Given the description of an element on the screen output the (x, y) to click on. 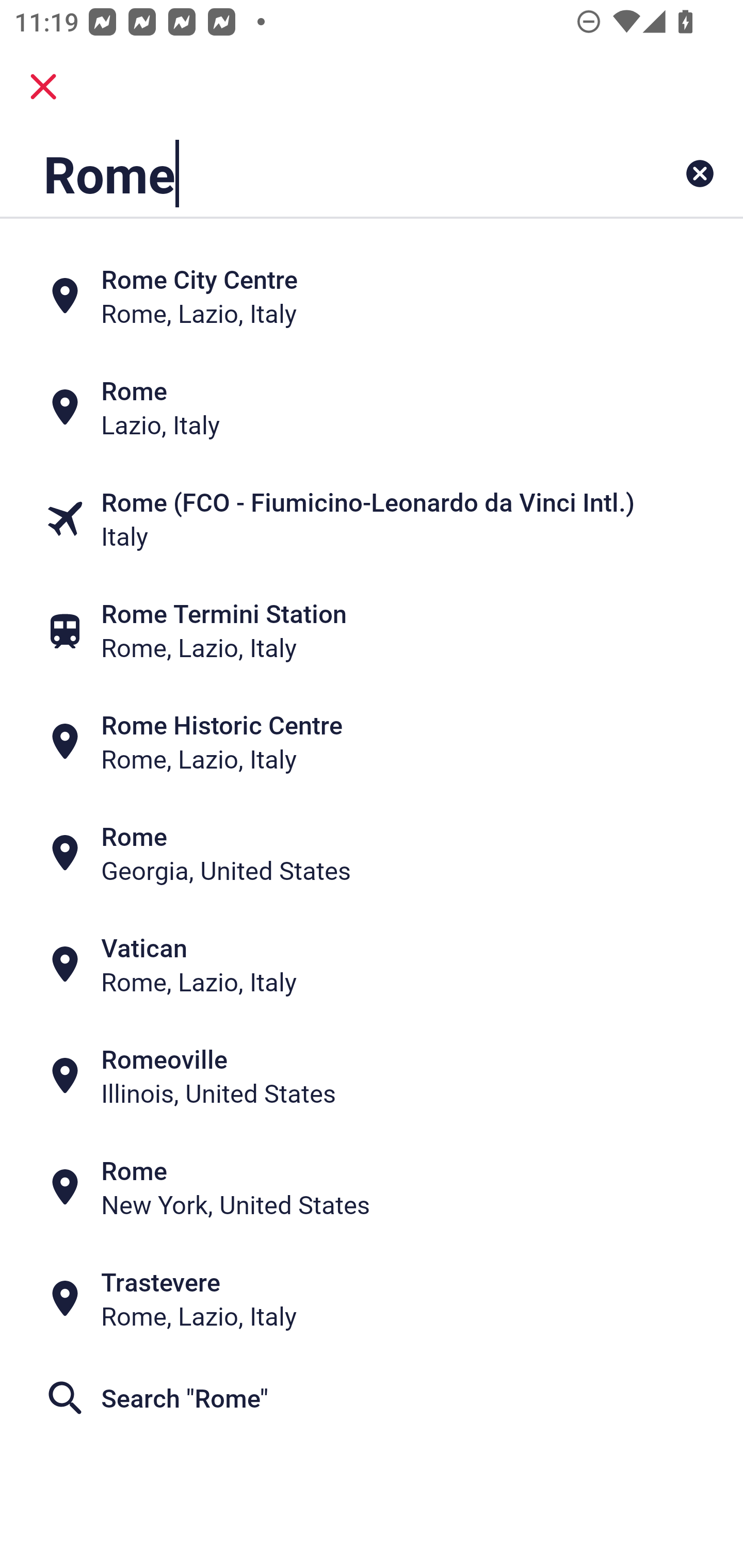
close. (43, 86)
Clear (699, 173)
Rome (306, 173)
Rome City Centre Rome, Lazio, Italy (371, 295)
Rome Lazio, Italy (371, 406)
Rome Termini Station Rome, Lazio, Italy (371, 629)
Rome Historic Centre Rome, Lazio, Italy (371, 742)
Rome Georgia, United States (371, 853)
Vatican Rome, Lazio, Italy (371, 964)
Romeoville Illinois, United States (371, 1076)
Rome New York, United States (371, 1187)
Trastevere Rome, Lazio, Italy (371, 1298)
Search "Rome" (371, 1397)
